Given the description of an element on the screen output the (x, y) to click on. 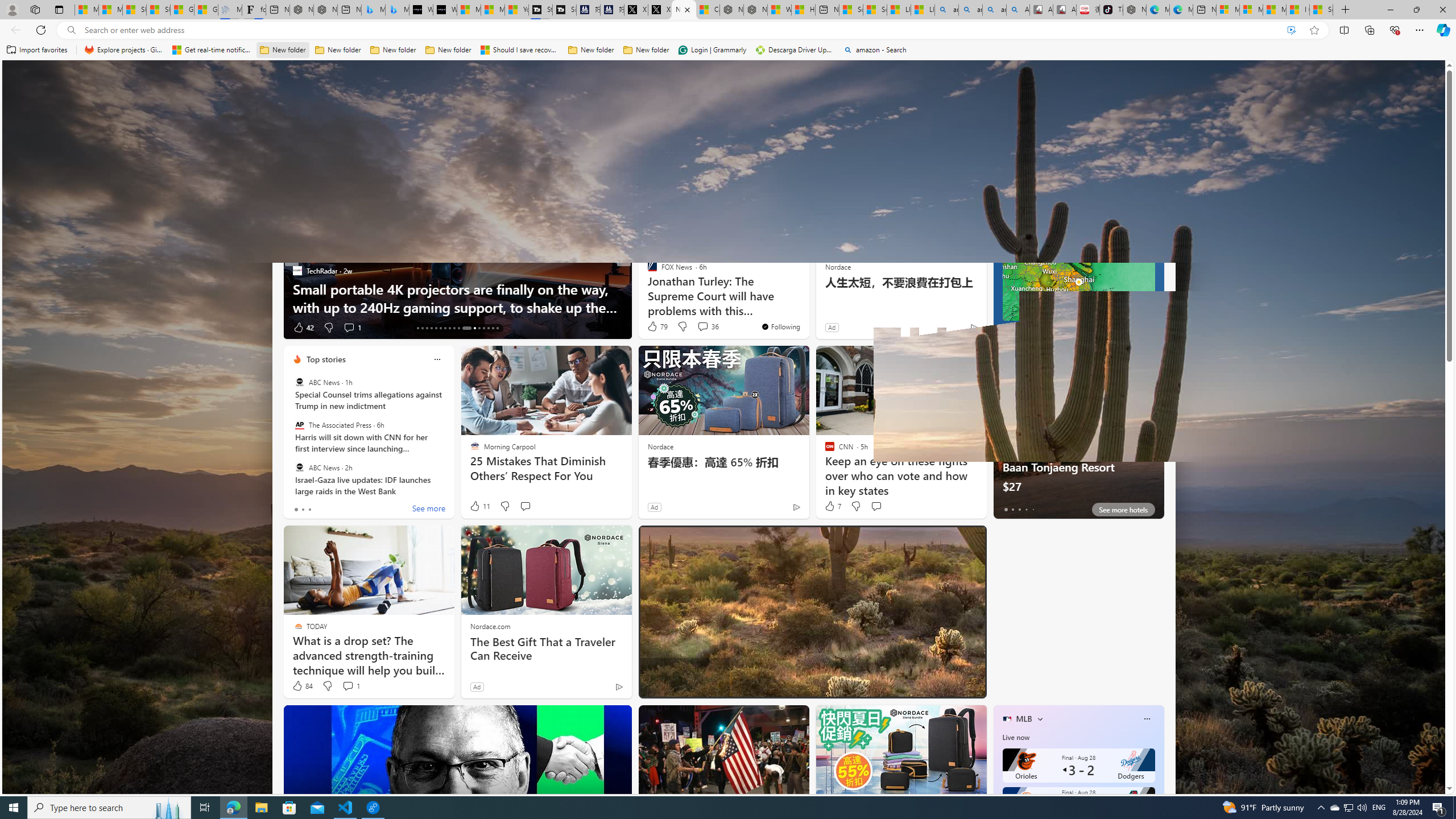
Following (352, 151)
Real Estate (893, 151)
See more hotels (1123, 509)
Weather (580, 151)
Travel (782, 151)
Sports (432, 151)
10 Like (652, 327)
Hotels in Bangkok (1048, 359)
X (660, 9)
View comments 17 Comment (707, 327)
Real Estate (893, 151)
